Given the description of an element on the screen output the (x, y) to click on. 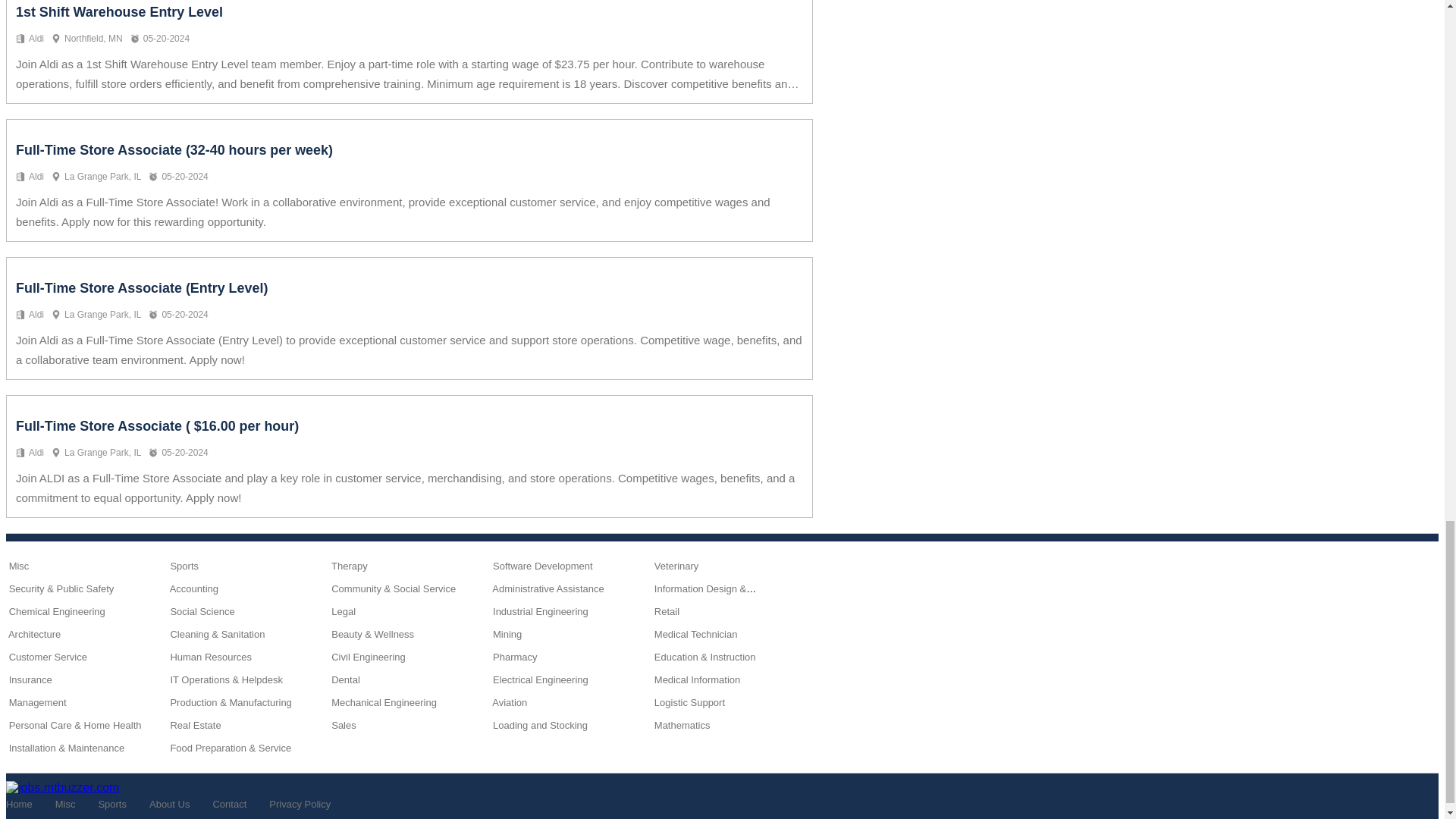
Accounting (194, 588)
Retail (666, 611)
Software Development (542, 565)
Architecture (34, 633)
Software Development (542, 565)
Medical Technician (695, 633)
Industrial Engineering (540, 611)
Architecture (34, 633)
Administrative Assistance (548, 588)
Social Science (202, 611)
